Given the description of an element on the screen output the (x, y) to click on. 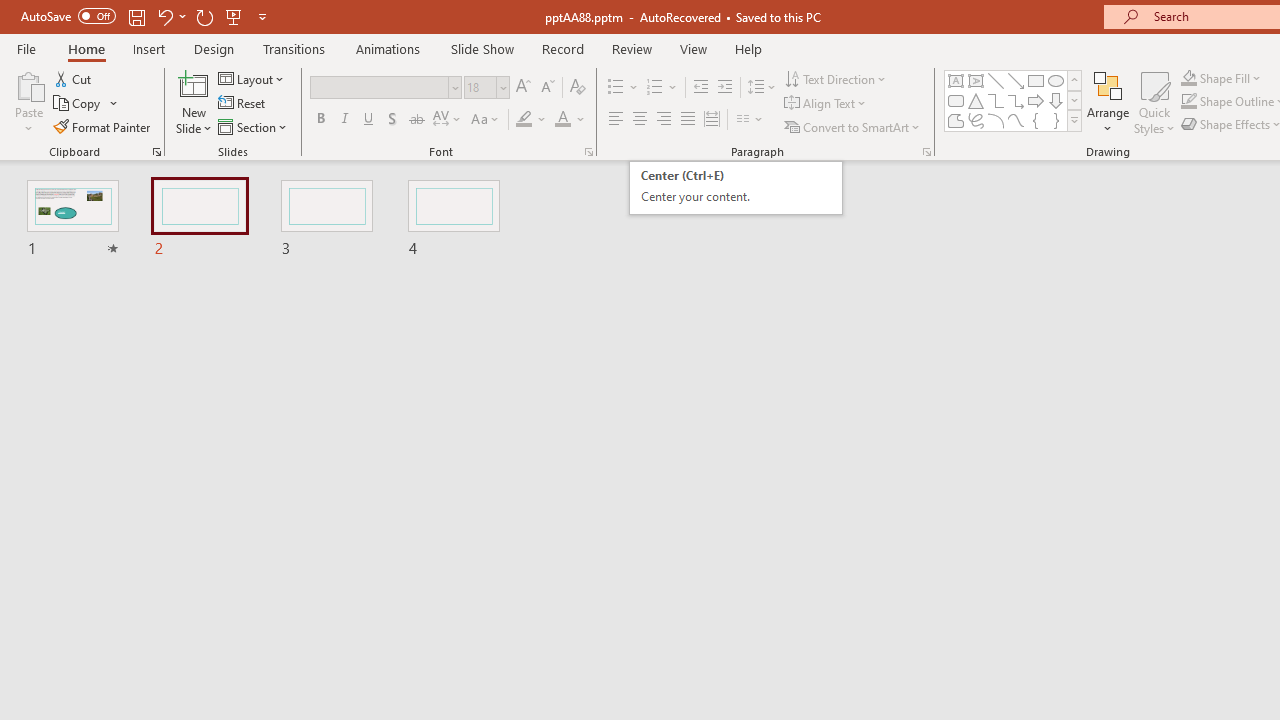
Shadow (392, 119)
Font (379, 87)
Vertical Text Box (975, 80)
Strikethrough (416, 119)
Arrow: Right (1035, 100)
Paragraph... (926, 151)
Clear Formatting (577, 87)
Convert to SmartArt (853, 126)
Align Text (826, 103)
Copy (85, 103)
Italic (344, 119)
Shape Outline Teal, Accent 1 (1188, 101)
Shape Fill Aqua, Accent 2 (1188, 78)
Text Highlight Color (531, 119)
